Given the description of an element on the screen output the (x, y) to click on. 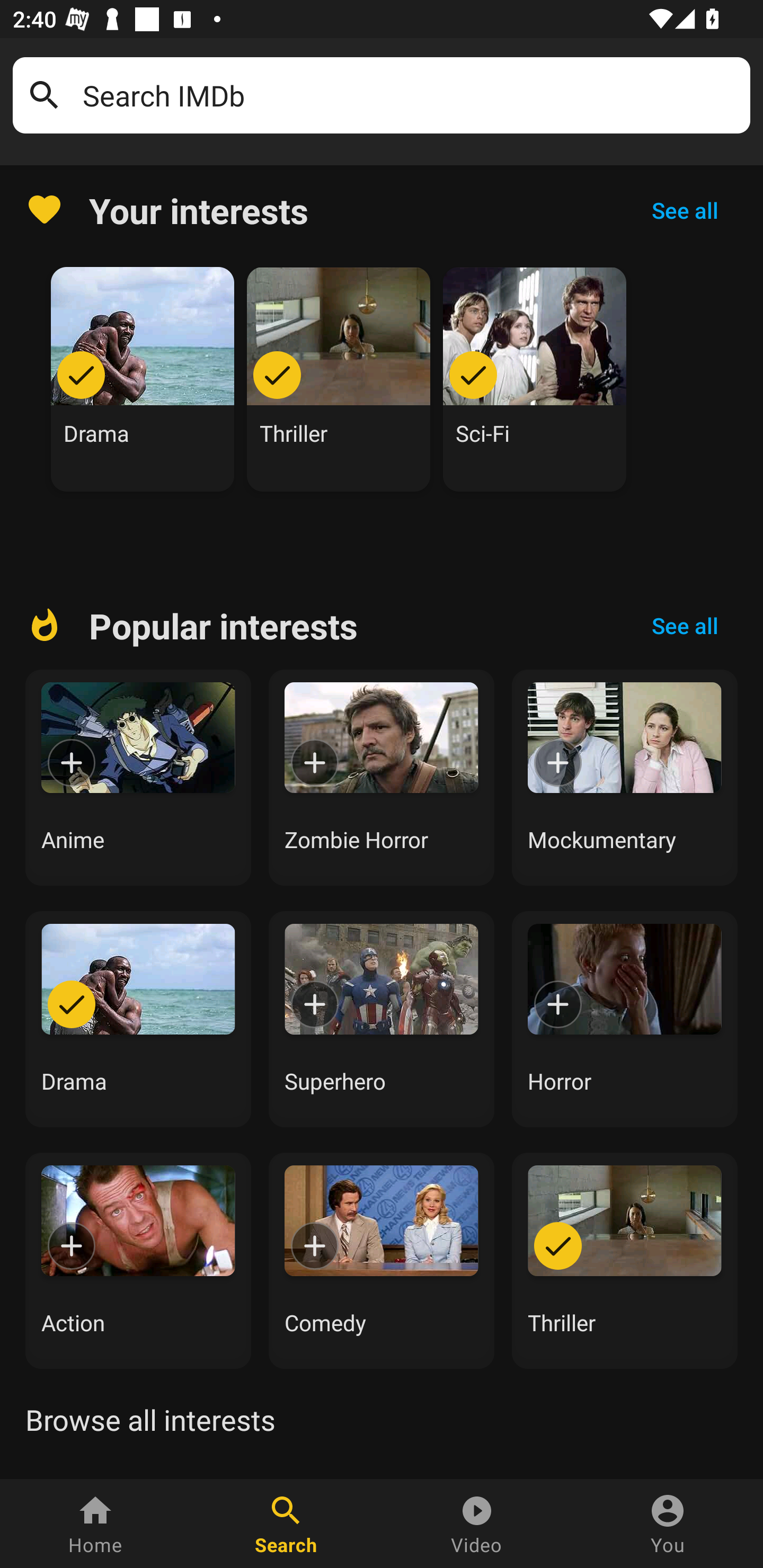
Search IMDb (410, 95)
See all (684, 209)
Drama (142, 379)
Thriller (338, 379)
Sci-Fi (534, 379)
See all (684, 625)
Anime (138, 777)
Zombie Horror (381, 777)
Mockumentary (624, 777)
Drama (138, 1018)
Superhero (381, 1018)
Horror (624, 1018)
Action (138, 1260)
Comedy (381, 1260)
Thriller (624, 1260)
Browse all interests (150, 1419)
Home (95, 1523)
Video (476, 1523)
You (667, 1523)
